Given the description of an element on the screen output the (x, y) to click on. 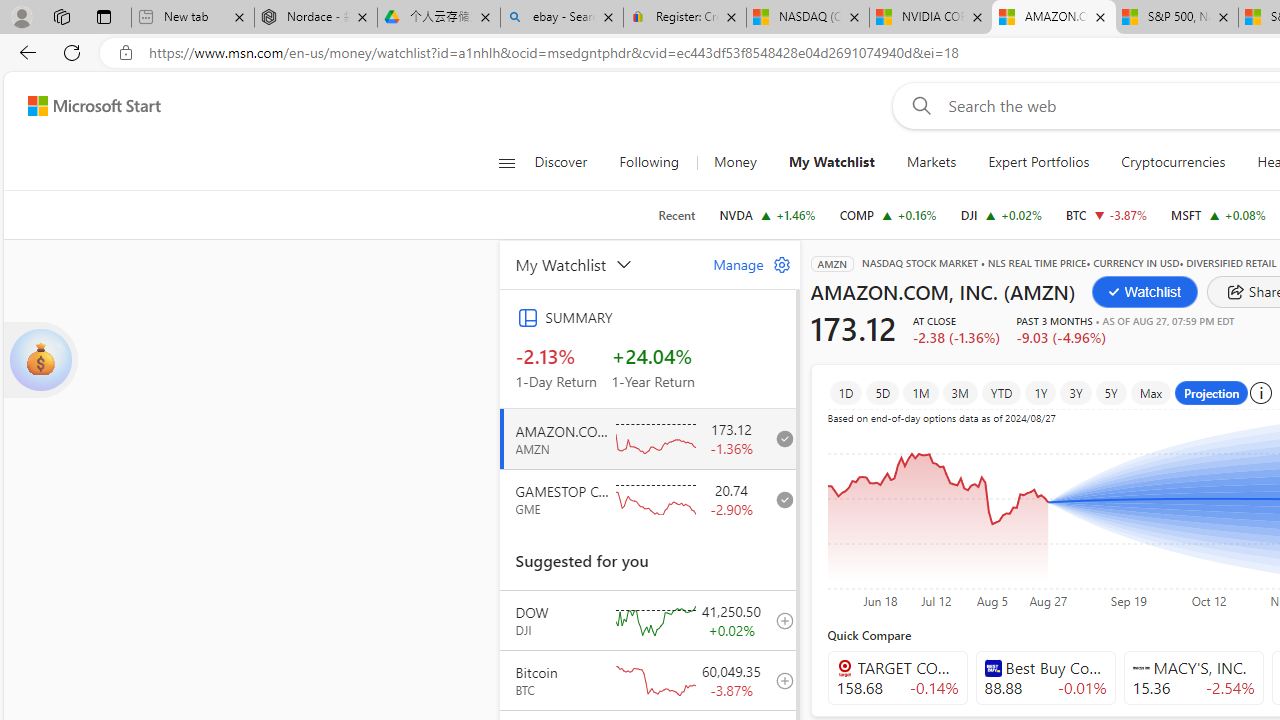
5Y (1110, 392)
Expert Portfolios (1038, 162)
Manage (744, 264)
remove from your watchlist (779, 498)
3Y (1075, 392)
Projection (1212, 392)
ebay - Search (561, 17)
Class: button-glyph (505, 162)
1D (845, 392)
New tab - Sleeping (192, 17)
